Given the description of an element on the screen output the (x, y) to click on. 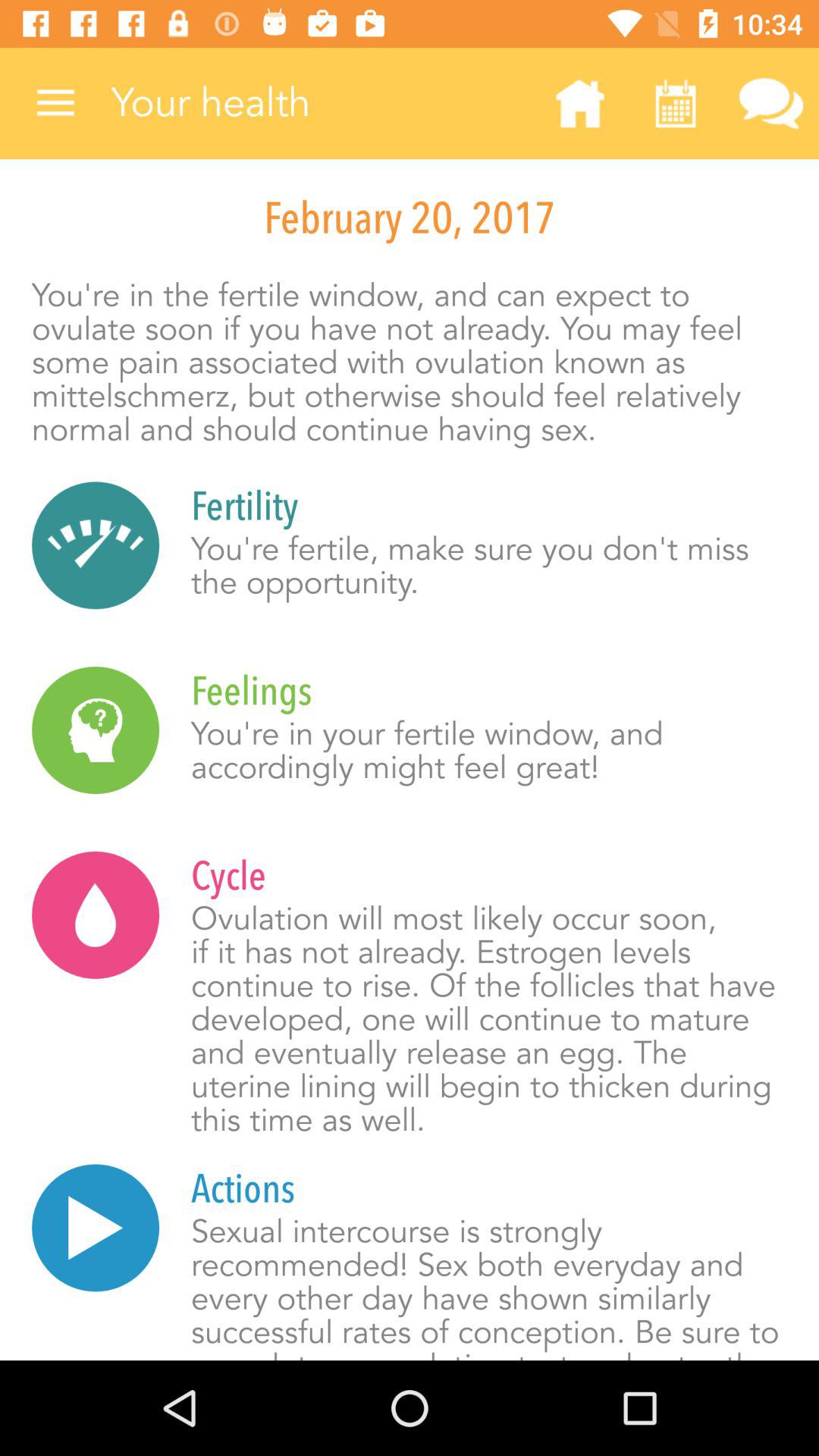
choose the item at the top left corner (55, 103)
